Given the description of an element on the screen output the (x, y) to click on. 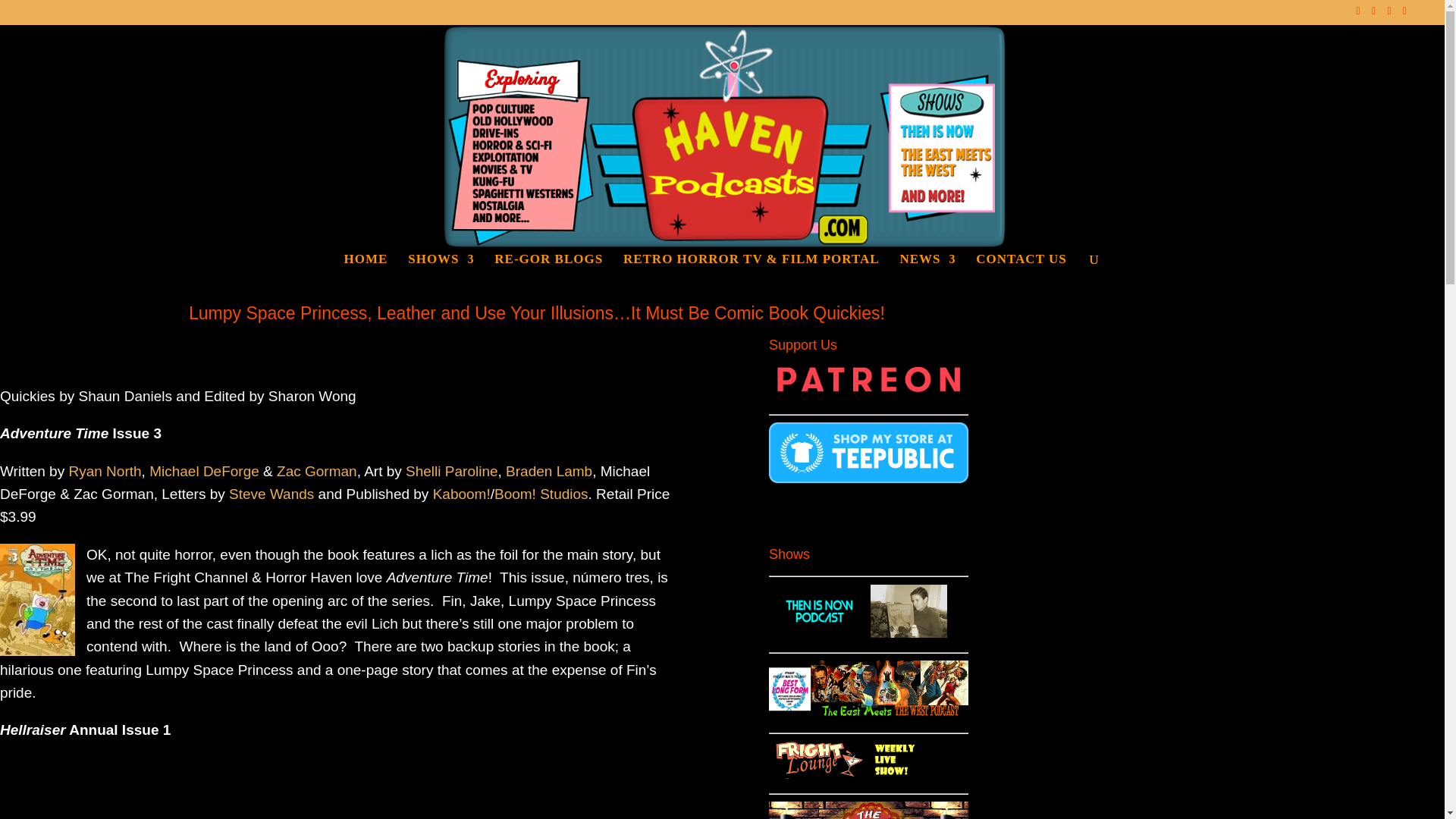
SHOWS (440, 278)
adventuretime3 (37, 599)
RE-GOR BLOGS (548, 278)
Advertisement (341, 790)
HOME (365, 278)
CONTACT US (1020, 278)
NEWS (927, 278)
